Given the description of an element on the screen output the (x, y) to click on. 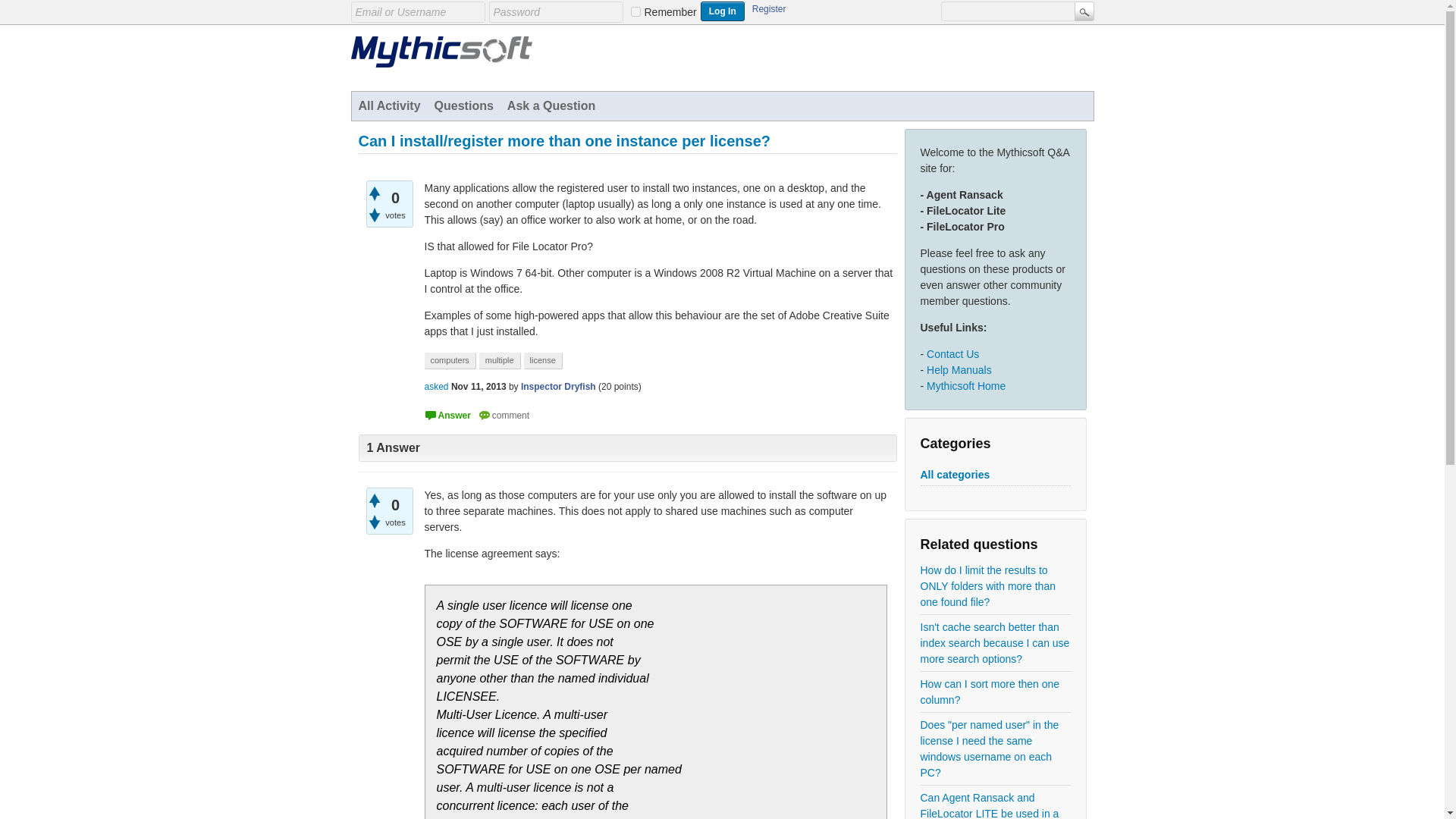
Questions (464, 105)
Search (1083, 11)
Mythicsoft Home (966, 386)
How can I sort more then one column? (995, 692)
comment (504, 415)
license (543, 360)
Search (1083, 11)
All categories (955, 474)
comment (504, 415)
All Activity (390, 105)
Help Manuals (958, 369)
Answer this question (447, 415)
1 (635, 11)
